Given the description of an element on the screen output the (x, y) to click on. 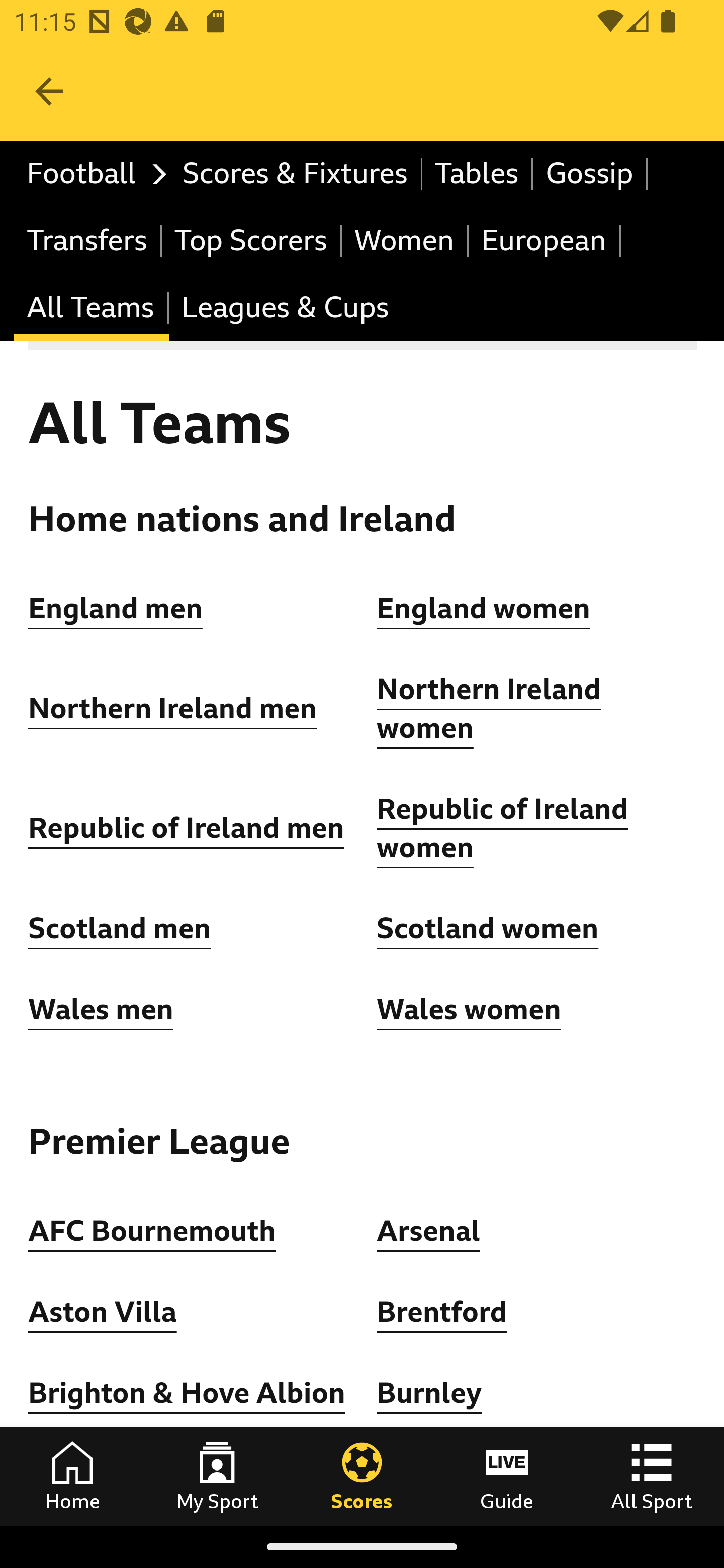
Navigate up (49, 91)
Football (91, 173)
Scores & Fixtures (295, 173)
Tables (477, 173)
Gossip (590, 173)
Transfers (88, 240)
Top Scorers (251, 240)
Women (405, 240)
European (544, 240)
All Teams (91, 308)
Leagues & Cups (284, 308)
England men (116, 608)
England women (483, 608)
Northern Ireland women (488, 709)
Northern Ireland men (173, 708)
Republic of Ireland women (502, 828)
Republic of Ireland men (186, 827)
Scotland men (120, 929)
Scotland women (487, 929)
Wales men (100, 1009)
Wales women (468, 1009)
AFC Bournemouth (151, 1230)
Arsenal (428, 1230)
Aston Villa (102, 1312)
Brentford (442, 1312)
Brighton & Hove Albion (187, 1393)
Burnley (429, 1393)
Home (72, 1475)
My Sport (216, 1475)
Guide (506, 1475)
All Sport (651, 1475)
